Given the description of an element on the screen output the (x, y) to click on. 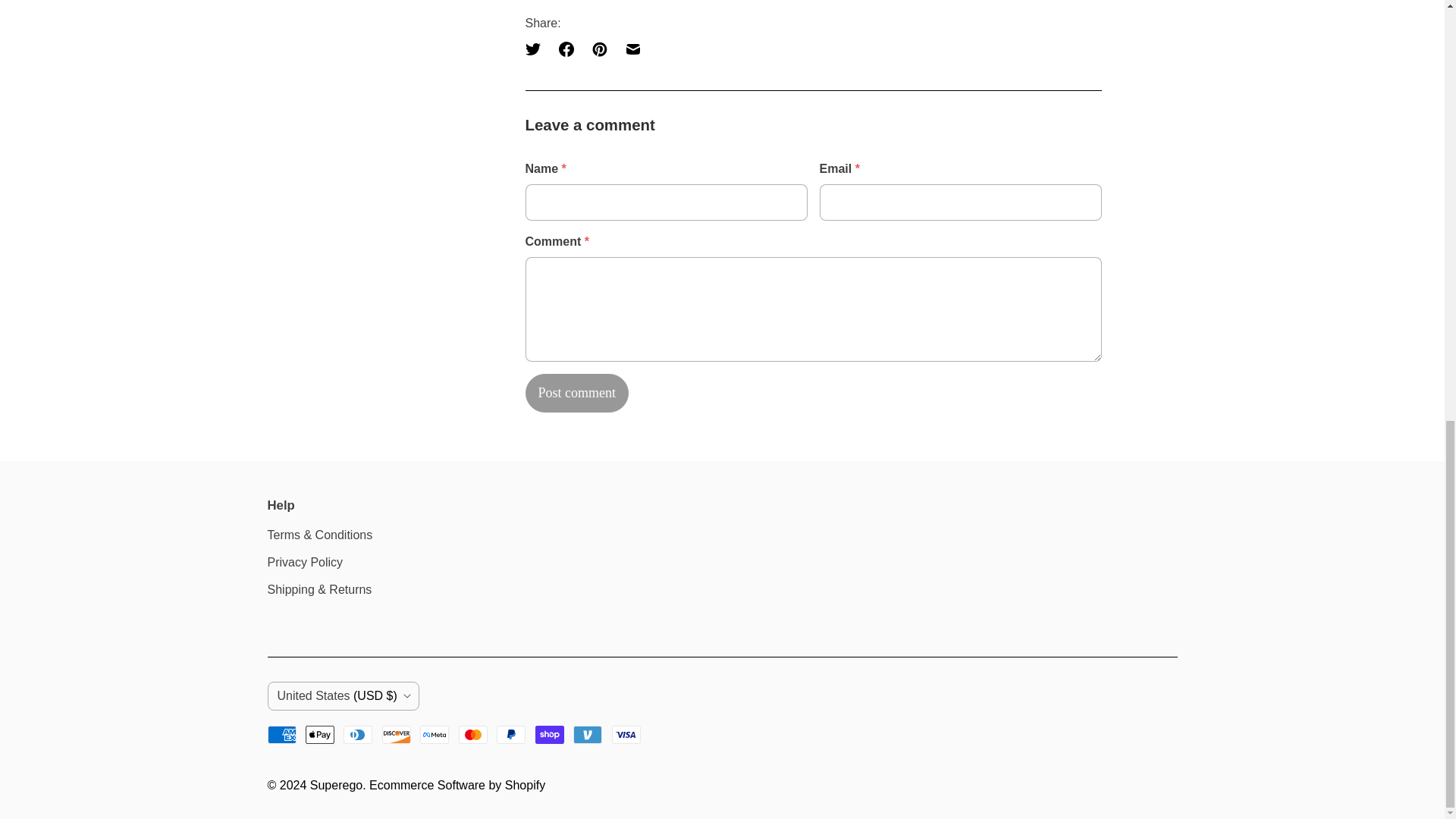
Email this to a friend (632, 49)
Visa (625, 734)
Apple Pay (319, 734)
Share this on Twitter (536, 49)
Shop Pay (549, 734)
American Express (280, 734)
Post comment (576, 392)
Share this on Pinterest (598, 49)
Discover (395, 734)
Meta Pay (434, 734)
Venmo (587, 734)
Diners Club (357, 734)
Share this on Facebook (565, 49)
PayPal (510, 734)
Mastercard (472, 734)
